Given the description of an element on the screen output the (x, y) to click on. 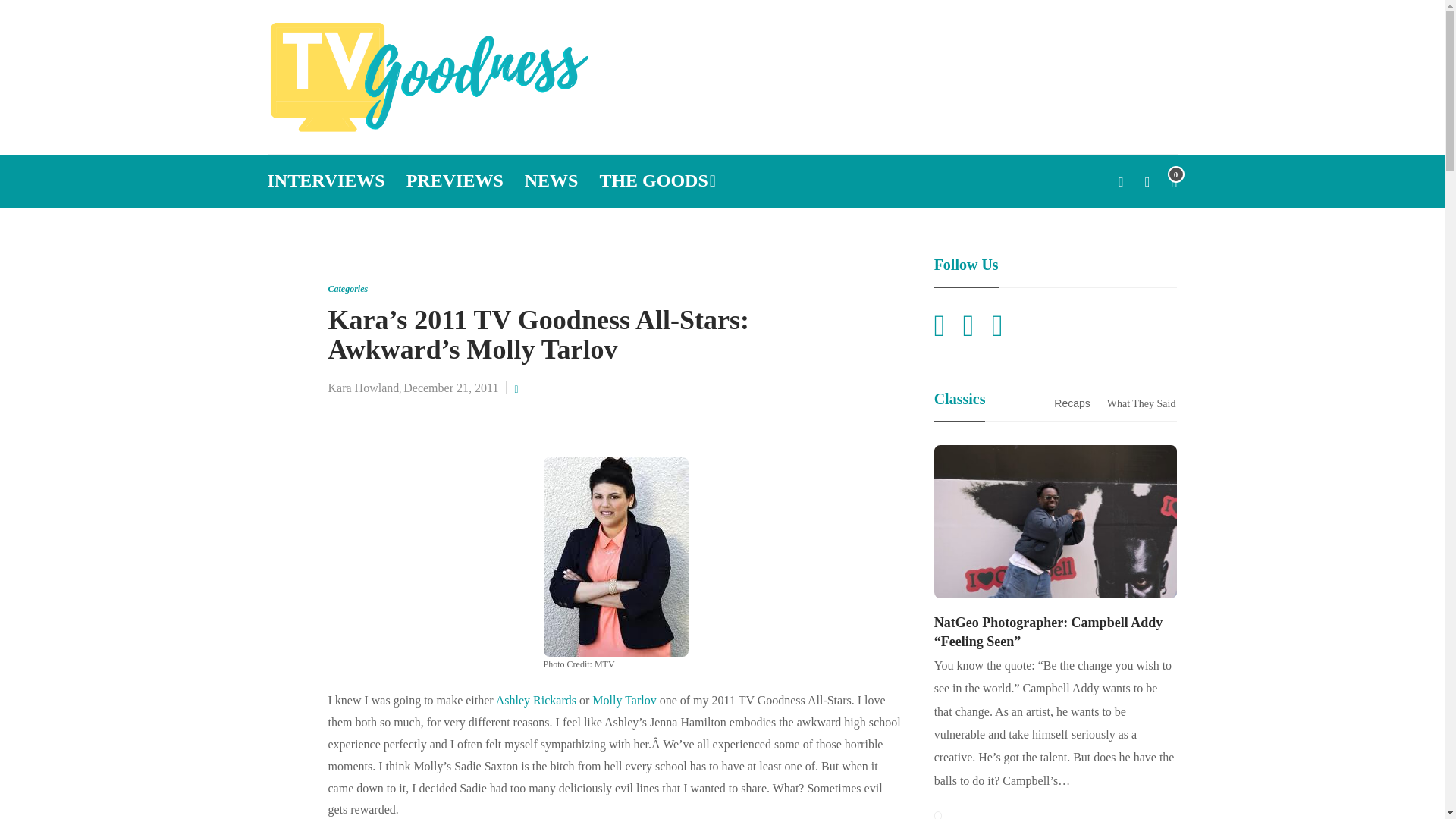
NEWS (551, 181)
December 21, 2011 (450, 387)
Kara Howland (362, 387)
THE GOODS (656, 181)
Ashley Rickards (536, 699)
Categories (347, 288)
INTERVIEWS (325, 181)
PREVIEWS (454, 181)
Molly Tarlov (624, 699)
